Given the description of an element on the screen output the (x, y) to click on. 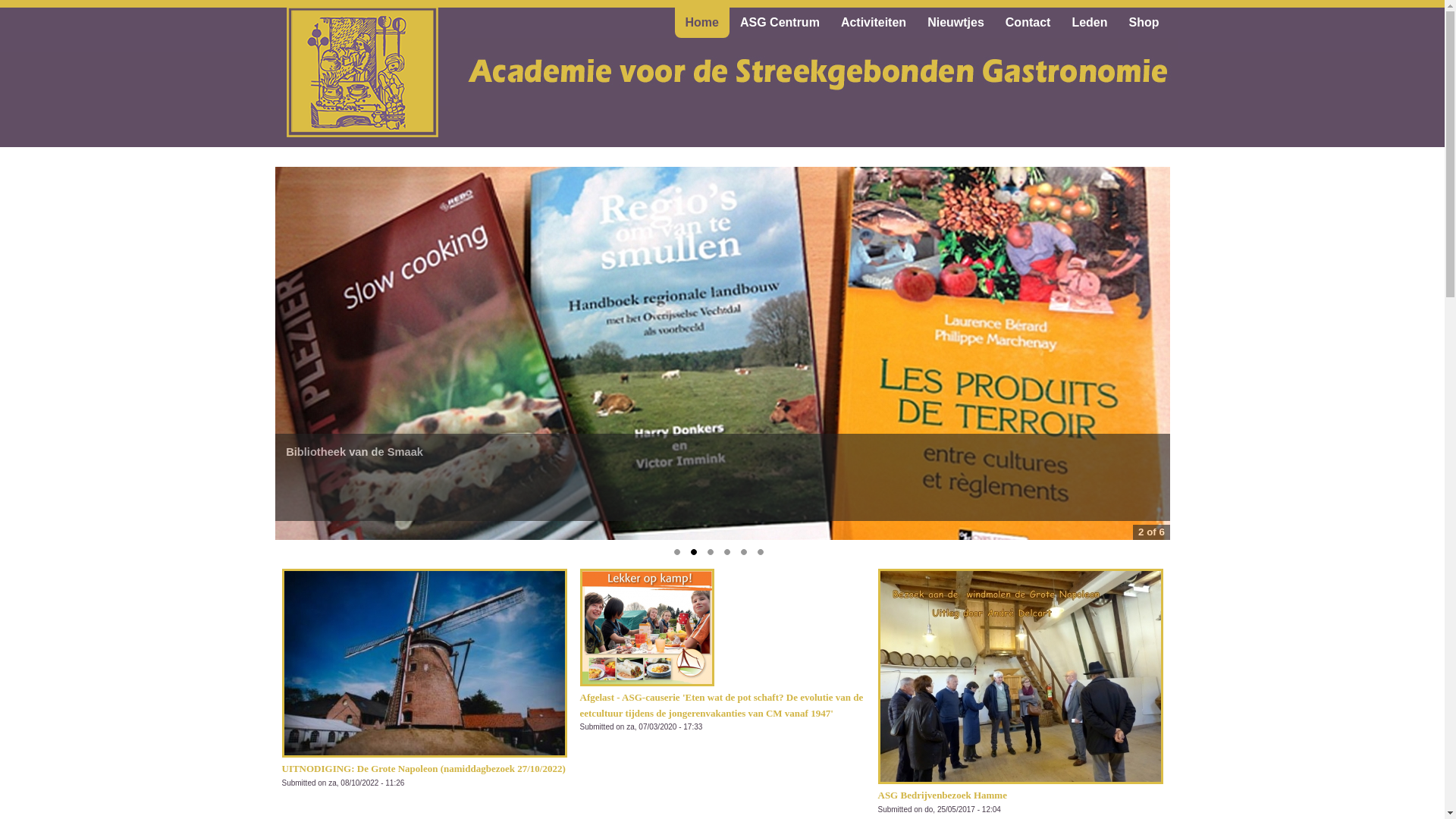
Shop Element type: text (1143, 22)
Leden Element type: text (1088, 22)
Nieuwtjes Element type: text (955, 22)
Contact Element type: text (1027, 22)
Home Element type: text (701, 22)
UITNODIGING: De Grote Napoleon (namiddagbezoek 27/10/2022) Element type: text (423, 763)
Activiteiten Element type: text (873, 22)
ASG Bedrijvenbezoek Hamme Element type: text (942, 790)
Zoeken Element type: text (56, 7)
ASG Centrum Element type: text (779, 22)
